Given the description of an element on the screen output the (x, y) to click on. 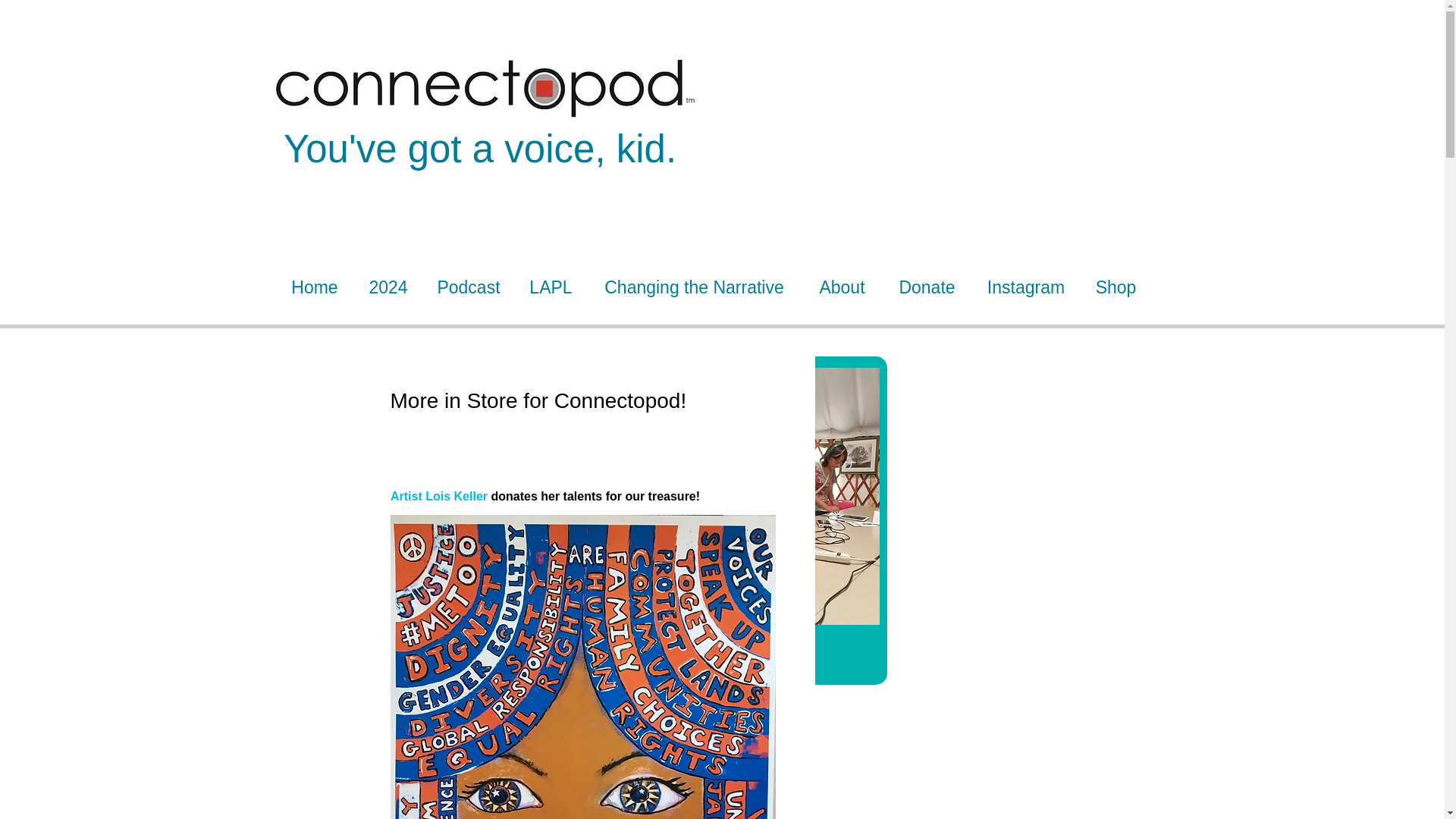
donate? (775, 643)
LAPL NoHo (779, 747)
Changing the Narrative (694, 287)
Podcast (468, 287)
LAPL (550, 287)
Instagram (1026, 287)
A Murder Mystery (779, 802)
Shop (1115, 287)
Donate (927, 287)
Home (314, 287)
2024 (388, 287)
